Given the description of an element on the screen output the (x, y) to click on. 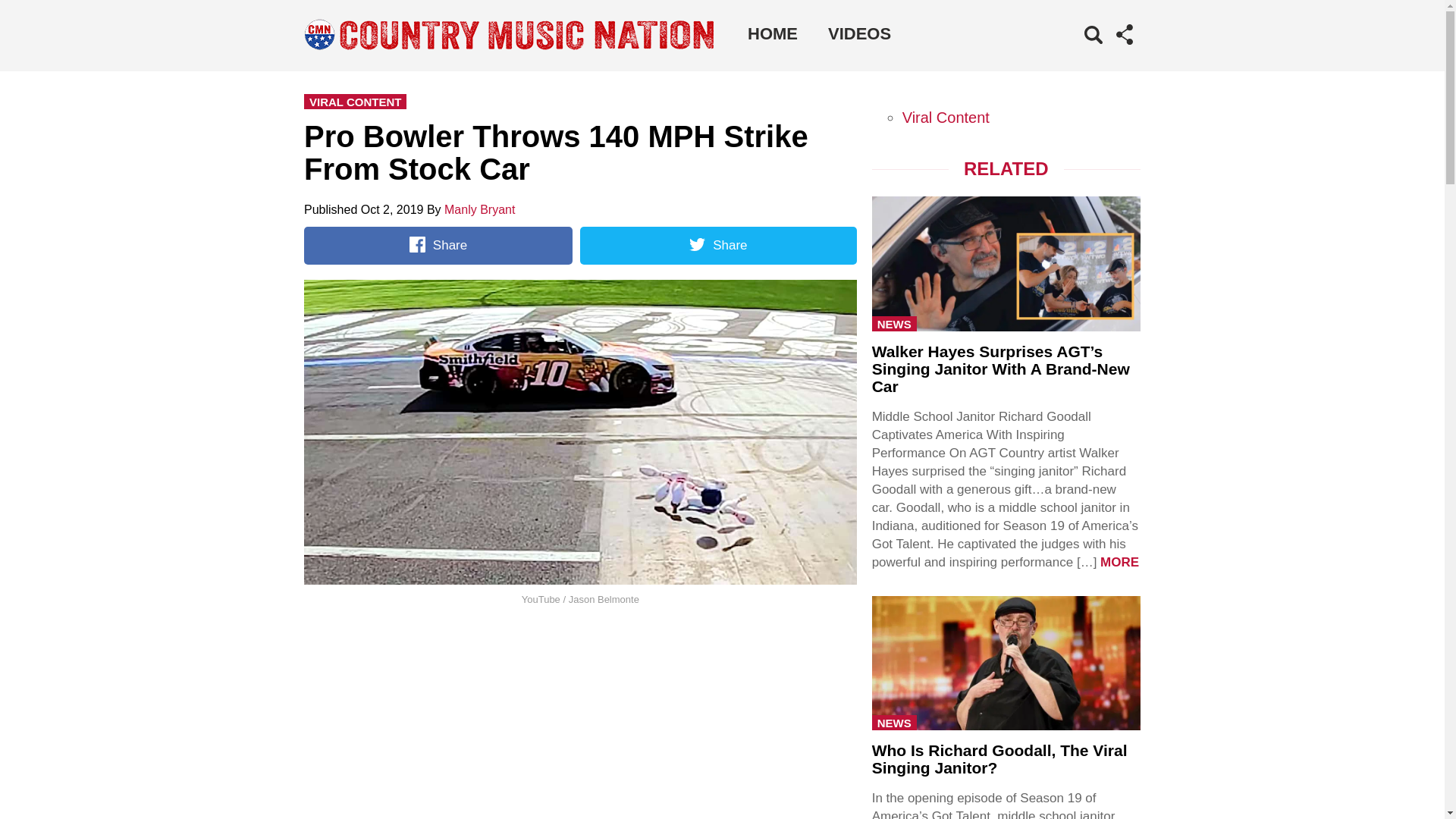
Videos (858, 33)
Viral Content (946, 117)
Who Is Richard Goodall, The Viral Singing Janitor? (999, 759)
VIRAL CONTENT (355, 101)
Manly Bryant (479, 209)
VIDEOS (858, 33)
NEWS (894, 722)
Home (772, 33)
Share (717, 245)
